Given the description of an element on the screen output the (x, y) to click on. 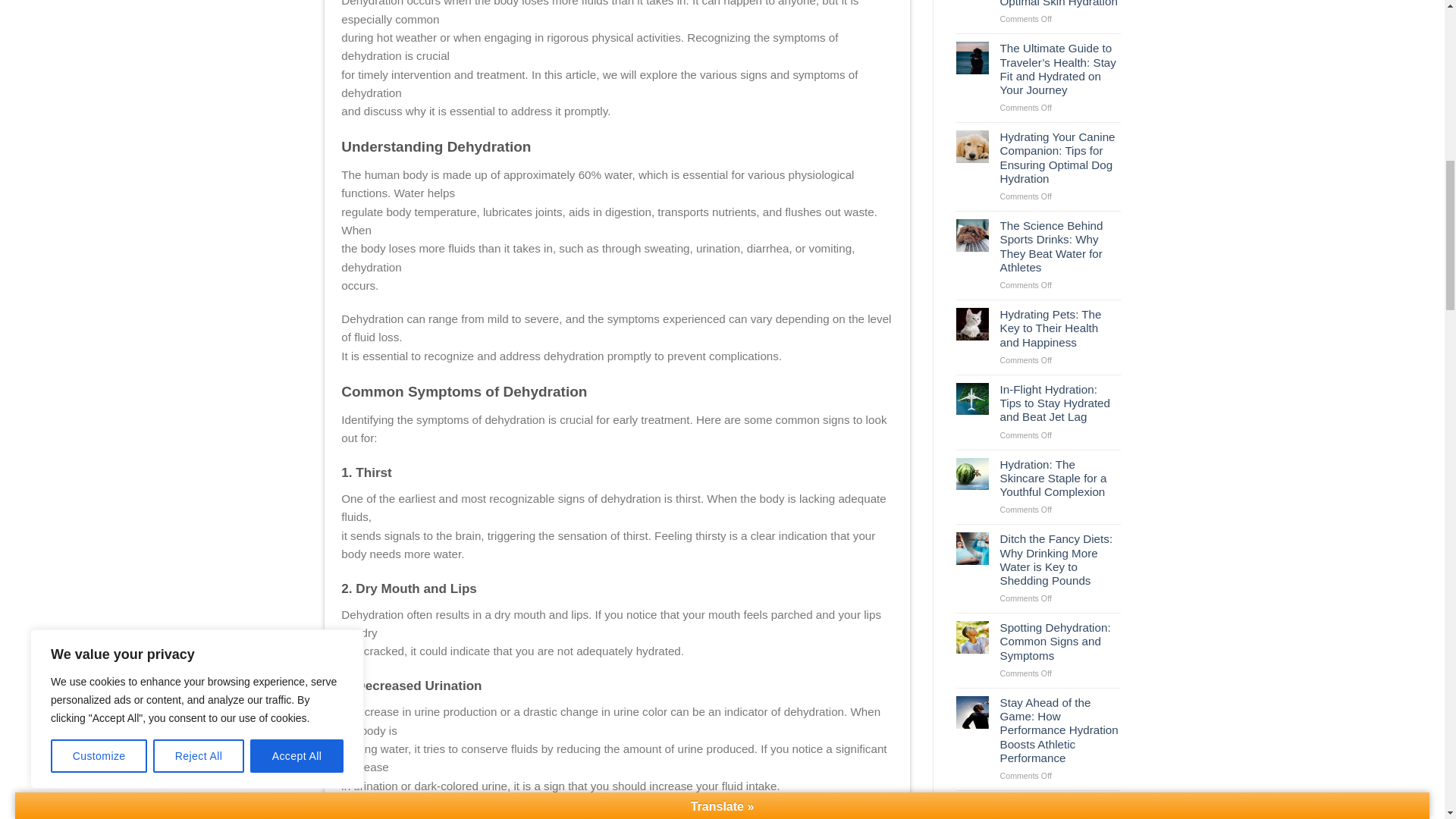
Quenching Their Thirst: Tips to Keep Your Pets Hydrated (1060, 808)
Say Goodbye to Dryness: Secrets to Optimal Skin Hydration (1060, 4)
Hydrating Pets: The Key to Their Health and Happiness (1060, 328)
In-Flight Hydration: Tips to Stay Hydrated and Beat Jet Lag (1060, 404)
Spotting Dehydration: Common Signs and Symptoms (1060, 641)
Hydration: The Skincare Staple for a Youthful Complexion (1060, 478)
